Given the description of an element on the screen output the (x, y) to click on. 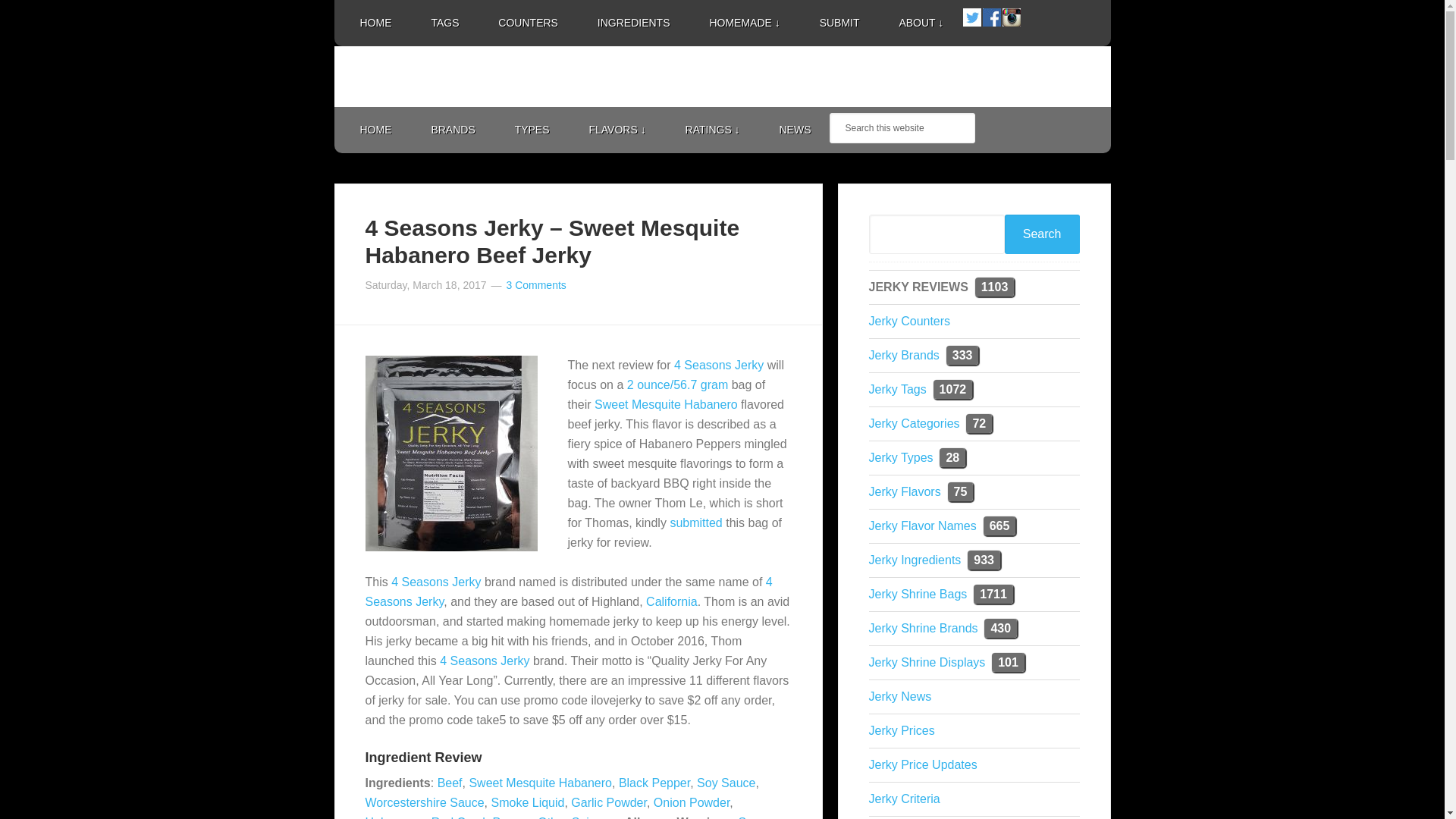
4 Seasons Jerky - Sweet Mesquite Habanero Beef Jerky (451, 453)
TAGS (444, 22)
TYPES (531, 130)
NEWS (795, 130)
Search (1042, 233)
Jerky Ingredients Twitter Page (971, 17)
Jerky Ingredients Facebook Page (991, 17)
Search (1042, 233)
Jerky Ingredients Instagram Page (1011, 16)
SUBMIT (839, 22)
submitted (695, 522)
Sweet Mesquite Habanero (666, 404)
HOME (374, 130)
3 Comments (535, 285)
